Given the description of an element on the screen output the (x, y) to click on. 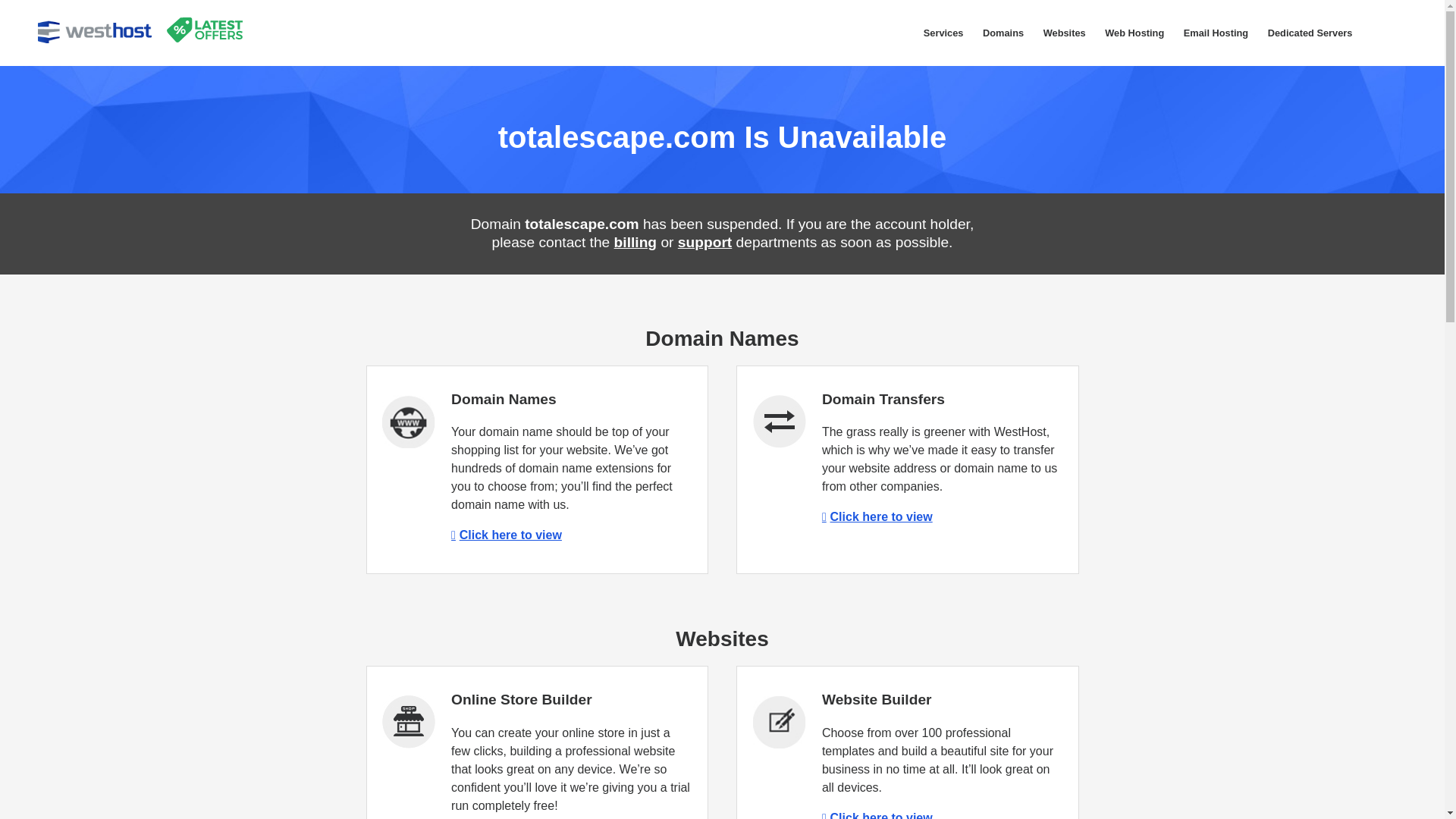
Click here to view (506, 534)
Web Hosting (1133, 32)
support (705, 242)
billing (636, 242)
Click here to view (877, 516)
Services (943, 32)
Email Hosting (1215, 32)
Click here to view (877, 815)
Domains (1002, 32)
Dedicated Servers (1309, 32)
Websites (1064, 32)
